Given the description of an element on the screen output the (x, y) to click on. 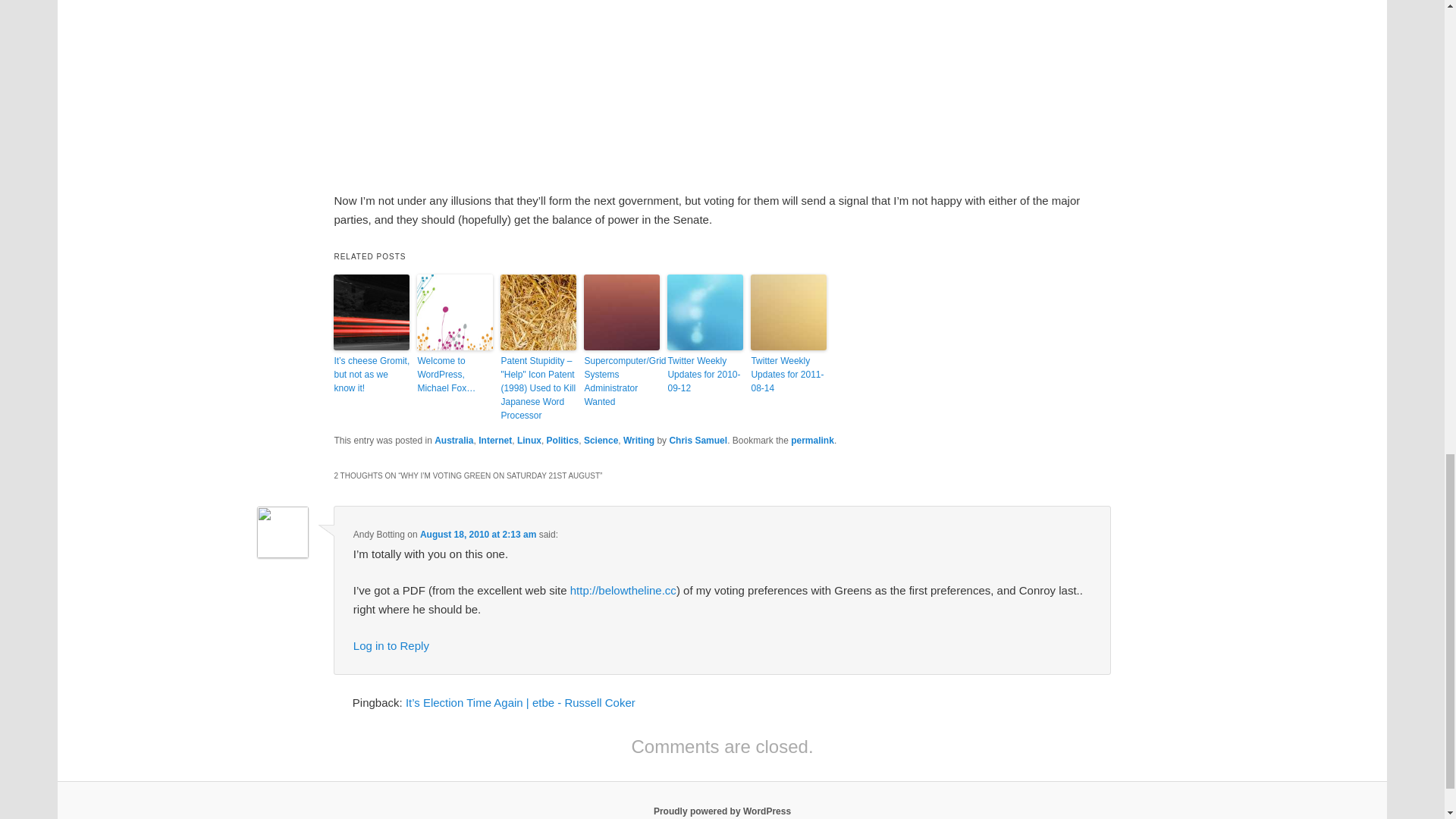
Australia (453, 439)
Chris Samuel (697, 439)
August 18, 2010 at 2:13 am (477, 534)
permalink (812, 439)
Twitter Weekly Updates for 2011-08-14 (789, 373)
Log in to Reply (391, 645)
Linux (528, 439)
Science (600, 439)
Politics (563, 439)
Twitter Weekly Updates for 2010-09-12 (704, 373)
